Given the description of an element on the screen output the (x, y) to click on. 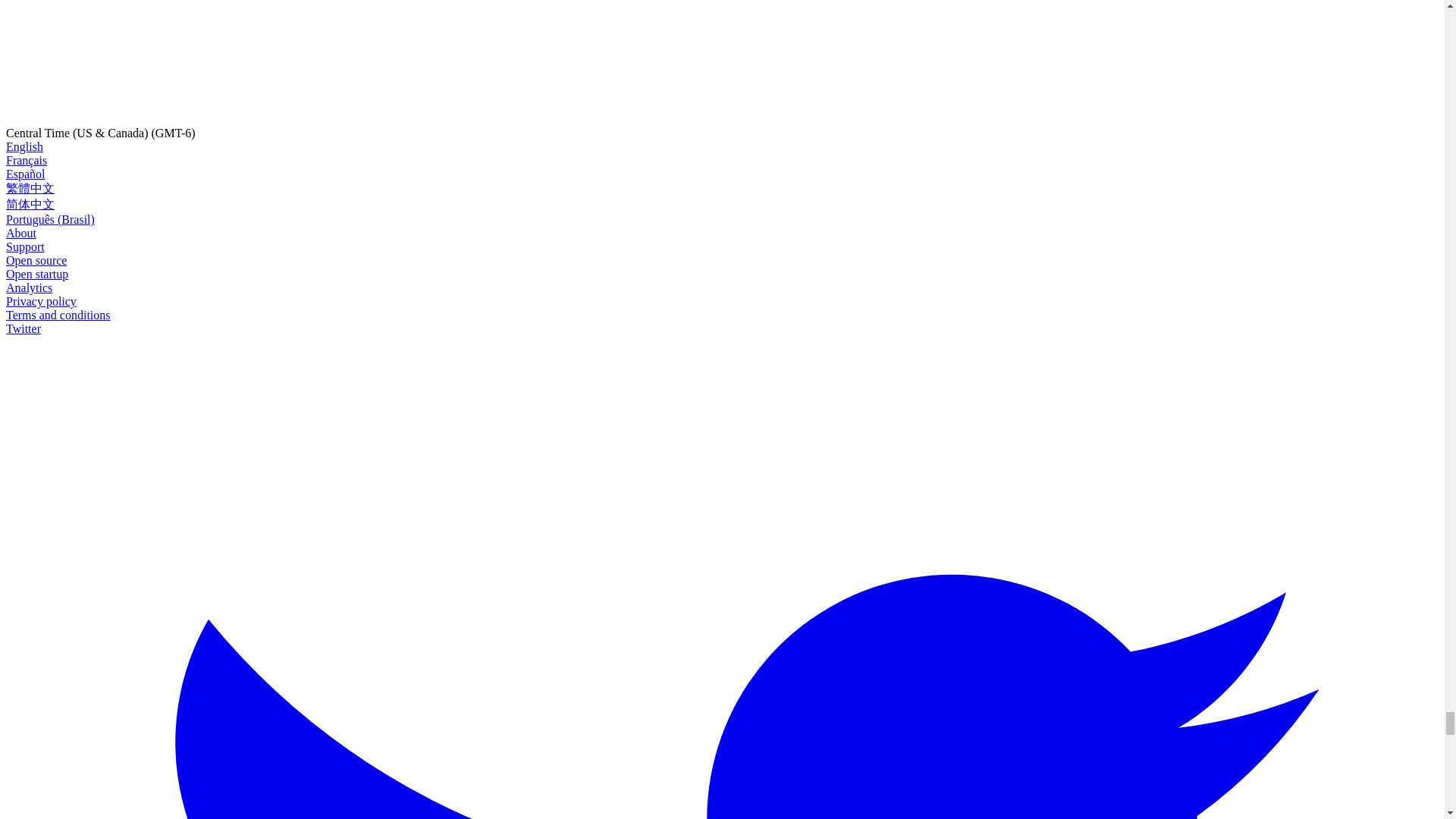
Privacy policy (41, 300)
English (24, 146)
Open startup (36, 273)
About (20, 232)
Open source (35, 259)
Terms and conditions (57, 314)
Analytics (28, 287)
Support (25, 246)
